Given the description of an element on the screen output the (x, y) to click on. 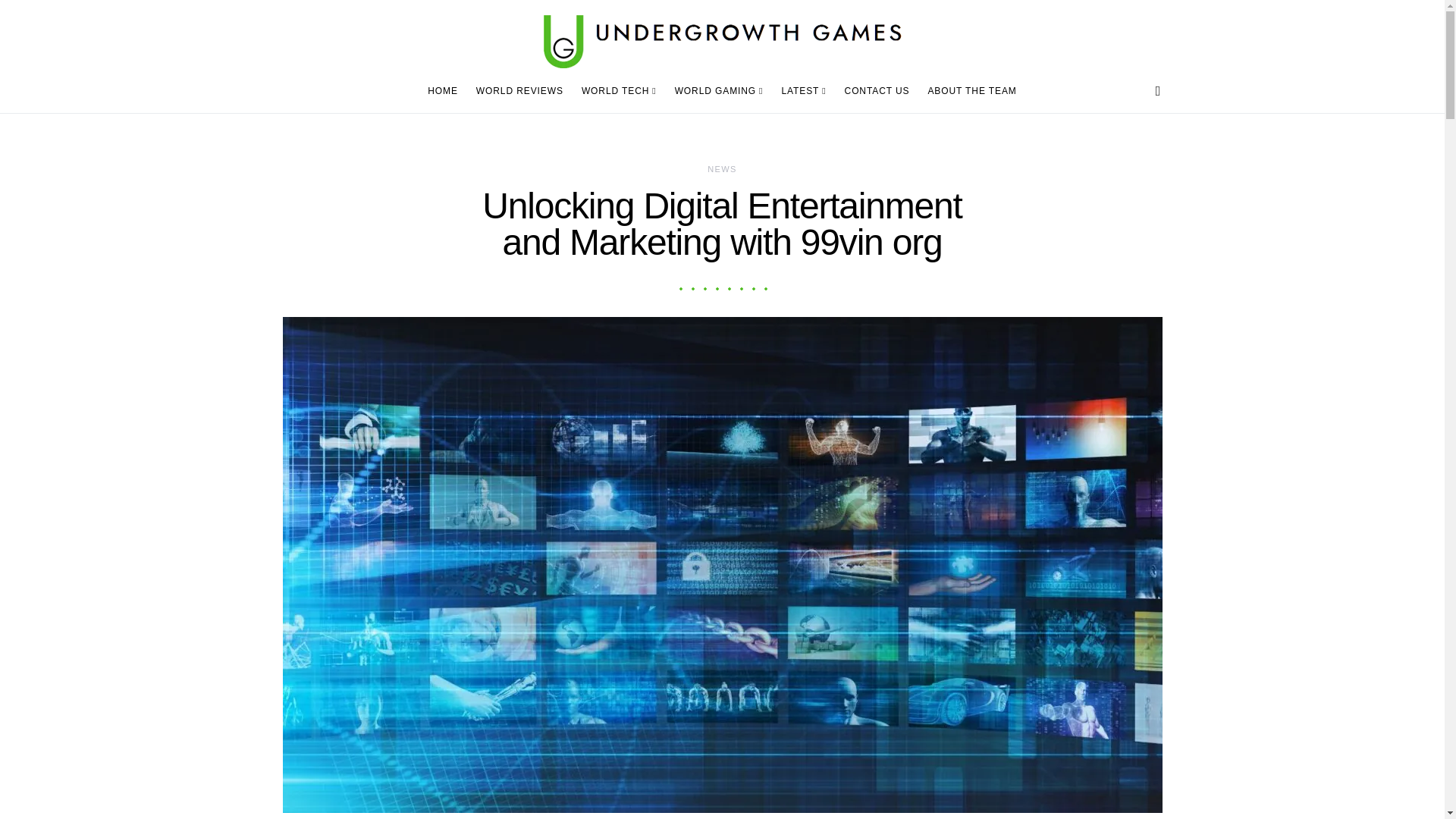
CONTACT US (876, 90)
LATEST (802, 90)
NEWS (721, 168)
WORLD TECH (618, 90)
ABOUT THE TEAM (967, 90)
WORLD REVIEWS (519, 90)
WORLD GAMING (719, 90)
